Given the description of an element on the screen output the (x, y) to click on. 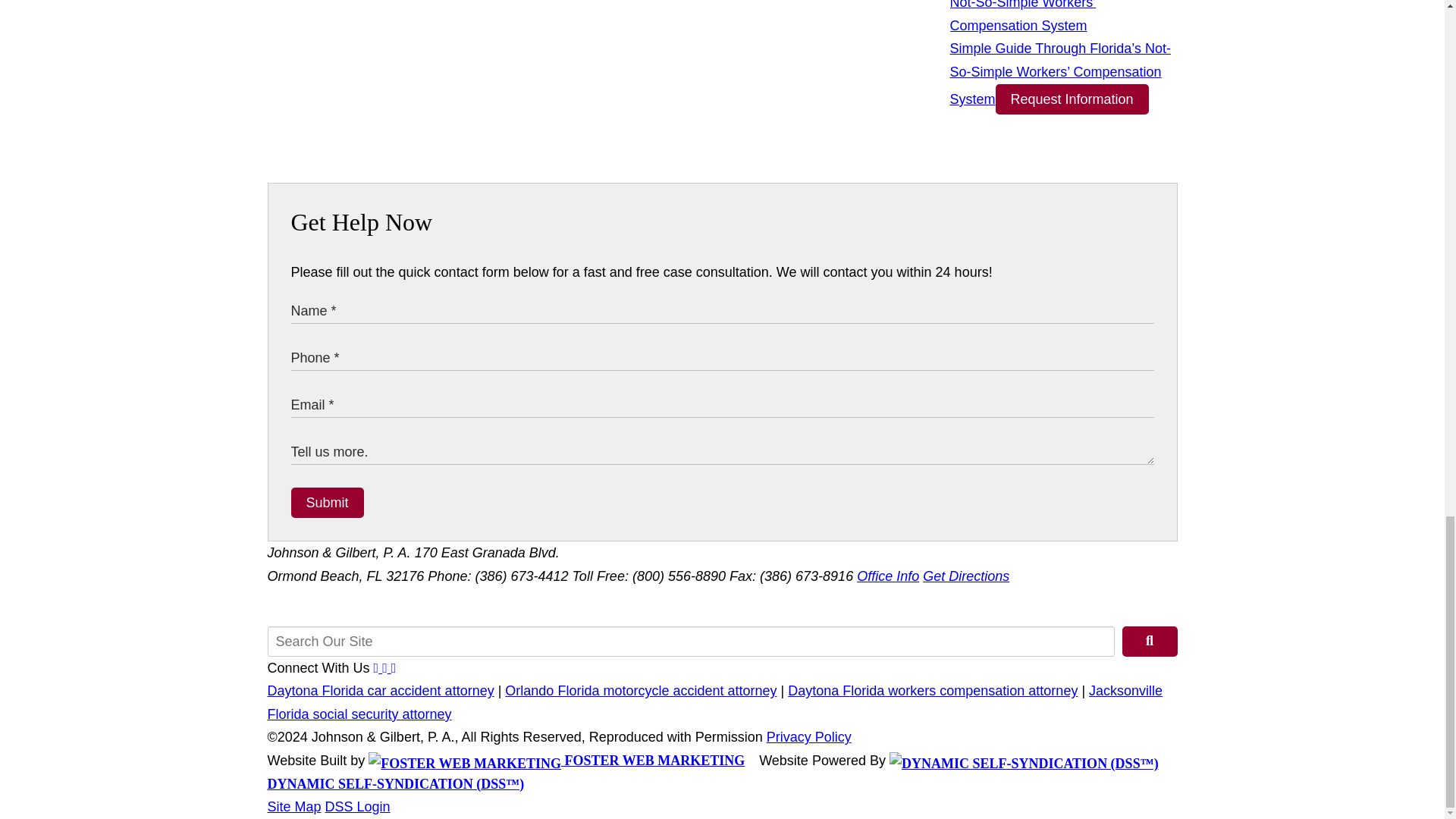
Search (1149, 641)
